Given the description of an element on the screen output the (x, y) to click on. 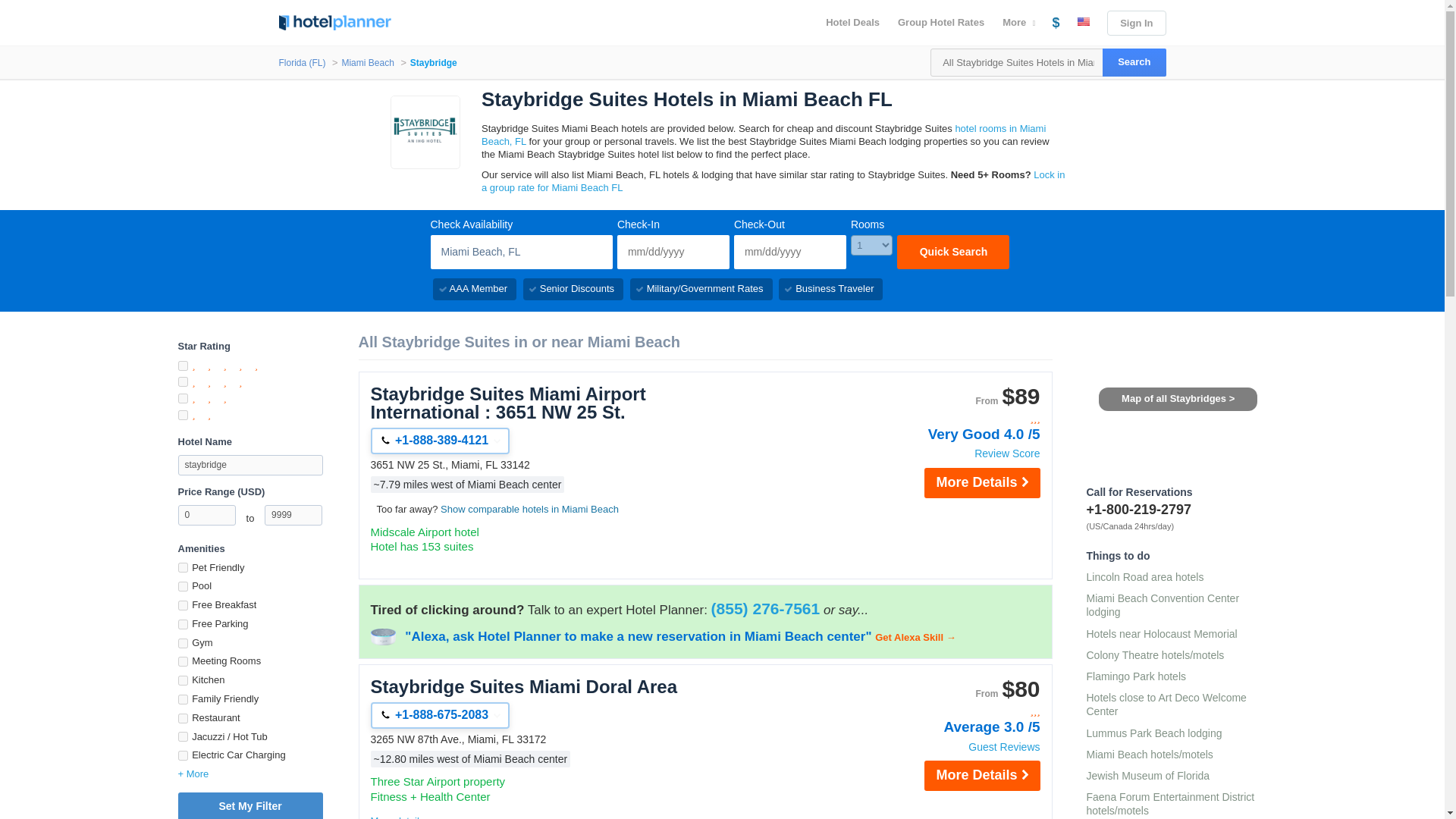
3 stars (958, 711)
Show comparable hotels in Miami Beach (529, 509)
0 (205, 515)
2131 (182, 661)
6 (182, 624)
Search (1134, 62)
3 (182, 398)
40 (182, 567)
Hotel Deals (852, 22)
Miami Beach, FL (521, 252)
